Given the description of an element on the screen output the (x, y) to click on. 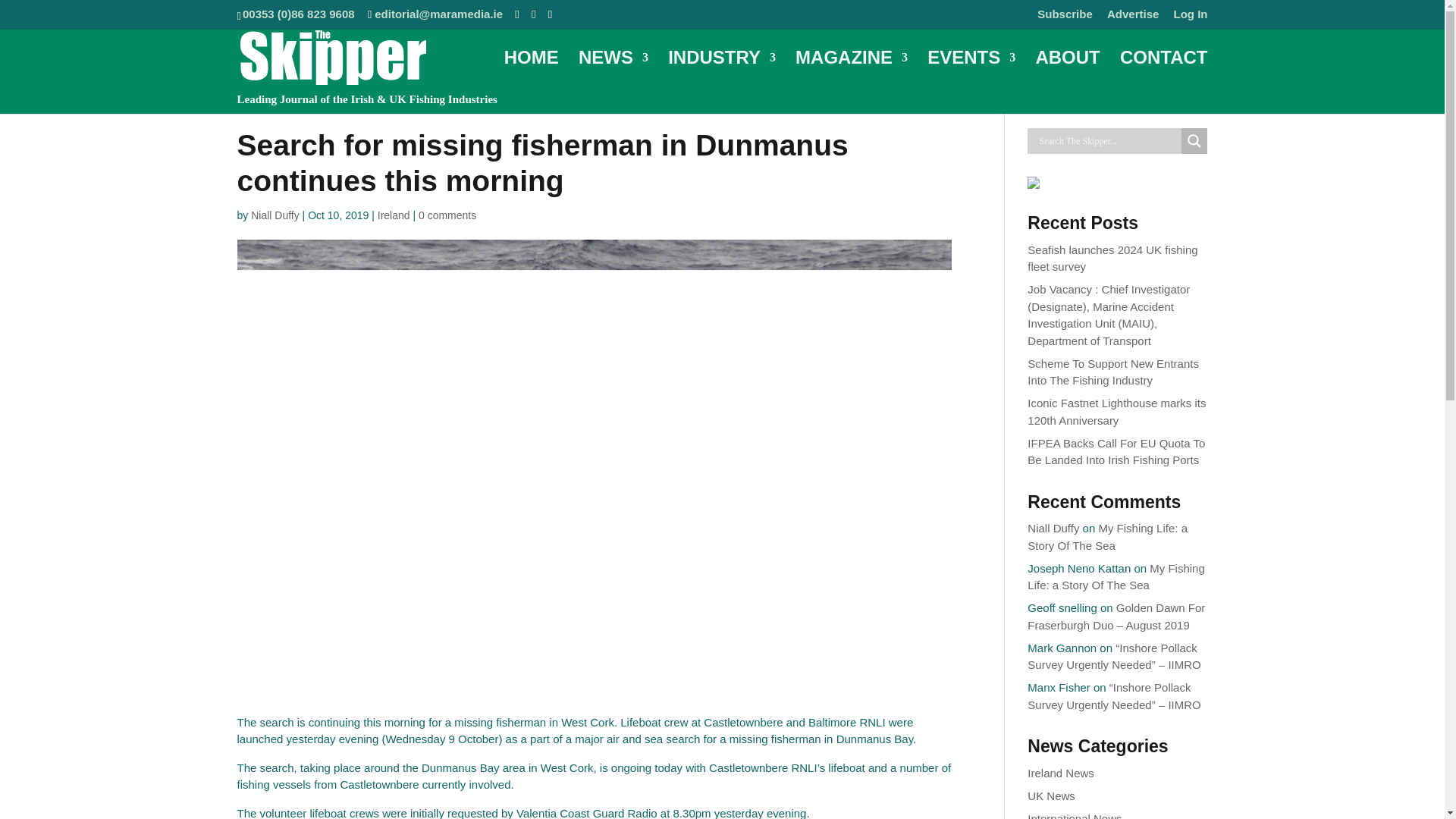
CONTACT (1163, 72)
NEWS (612, 72)
Log In (1190, 17)
INDUSTRY (722, 72)
Niall Duffy (274, 215)
Ireland (393, 215)
Posts by Niall Duffy (274, 215)
EVENTS (970, 72)
MAGAZINE (850, 72)
Subscribe (1064, 17)
ABOUT (1067, 72)
Advertise (1132, 17)
HOME (531, 72)
